Given the description of an element on the screen output the (x, y) to click on. 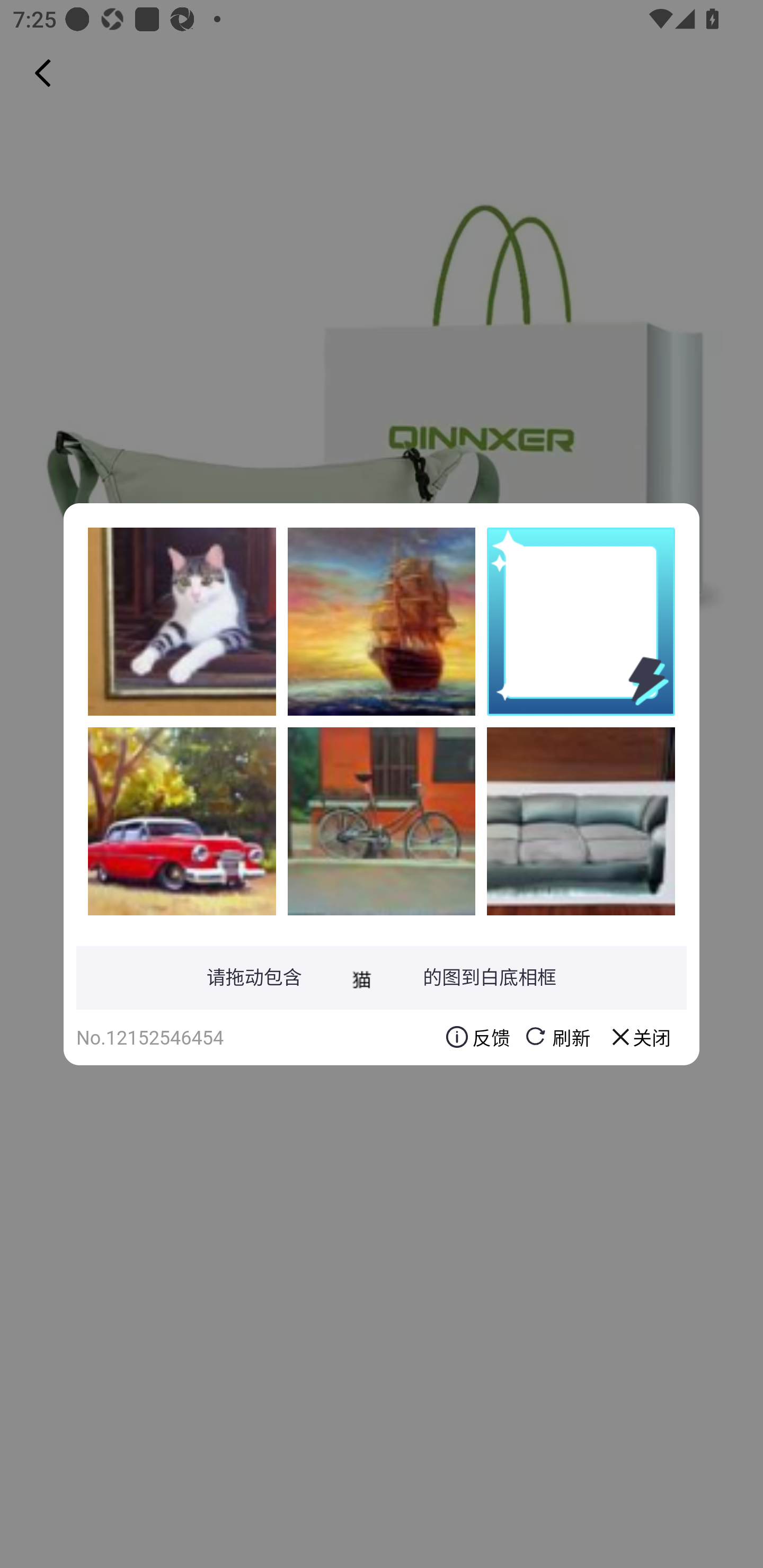
7YdOH (181, 621)
lk74ZOejW (580, 820)
